Given the description of an element on the screen output the (x, y) to click on. 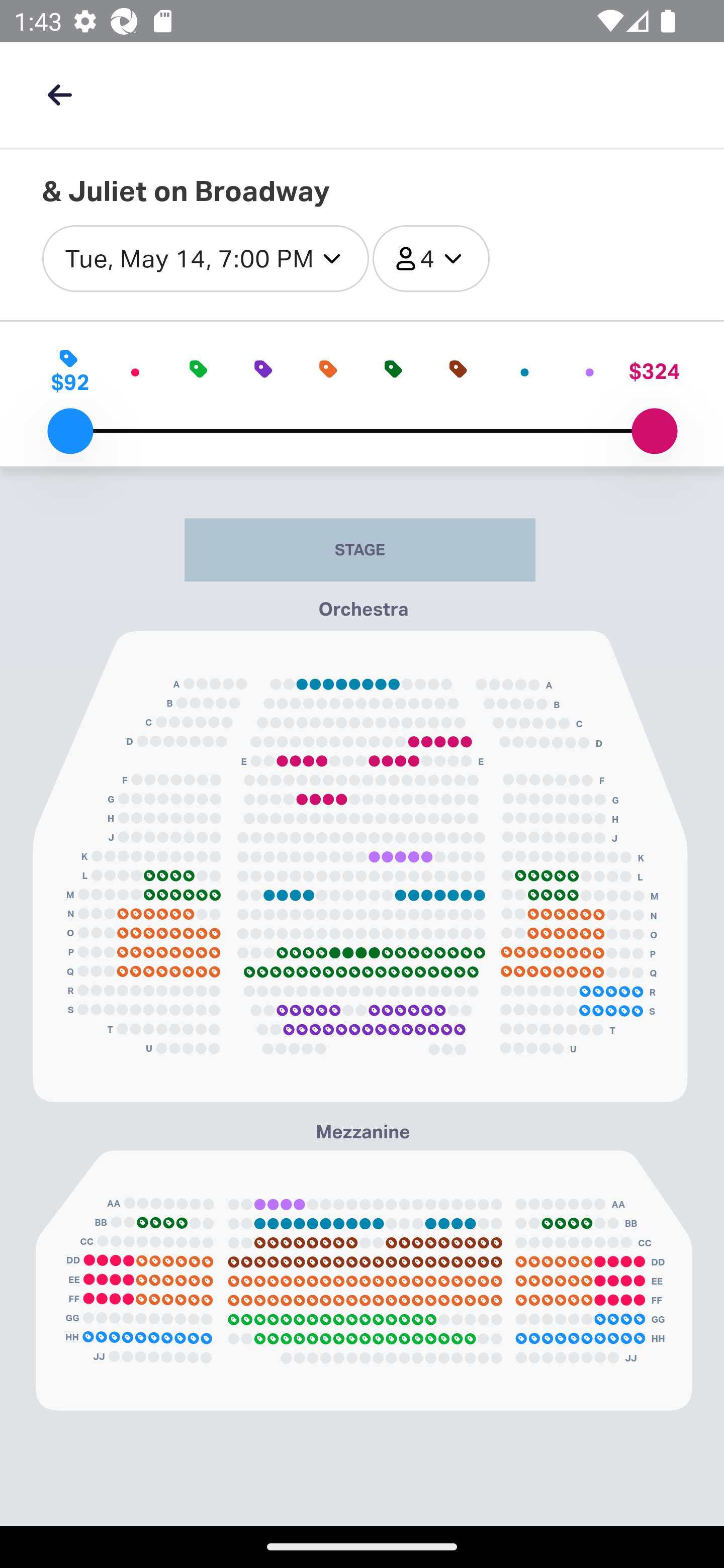
back button (59, 94)
Tue, May 14, 7:00 PM (205, 259)
4 (430, 259)
$92 (70, 370)
• (134, 370)
• (525, 370)
• (590, 370)
$324 (653, 370)
0.0 (69, 431)
100.0 (654, 431)
